Given the description of an element on the screen output the (x, y) to click on. 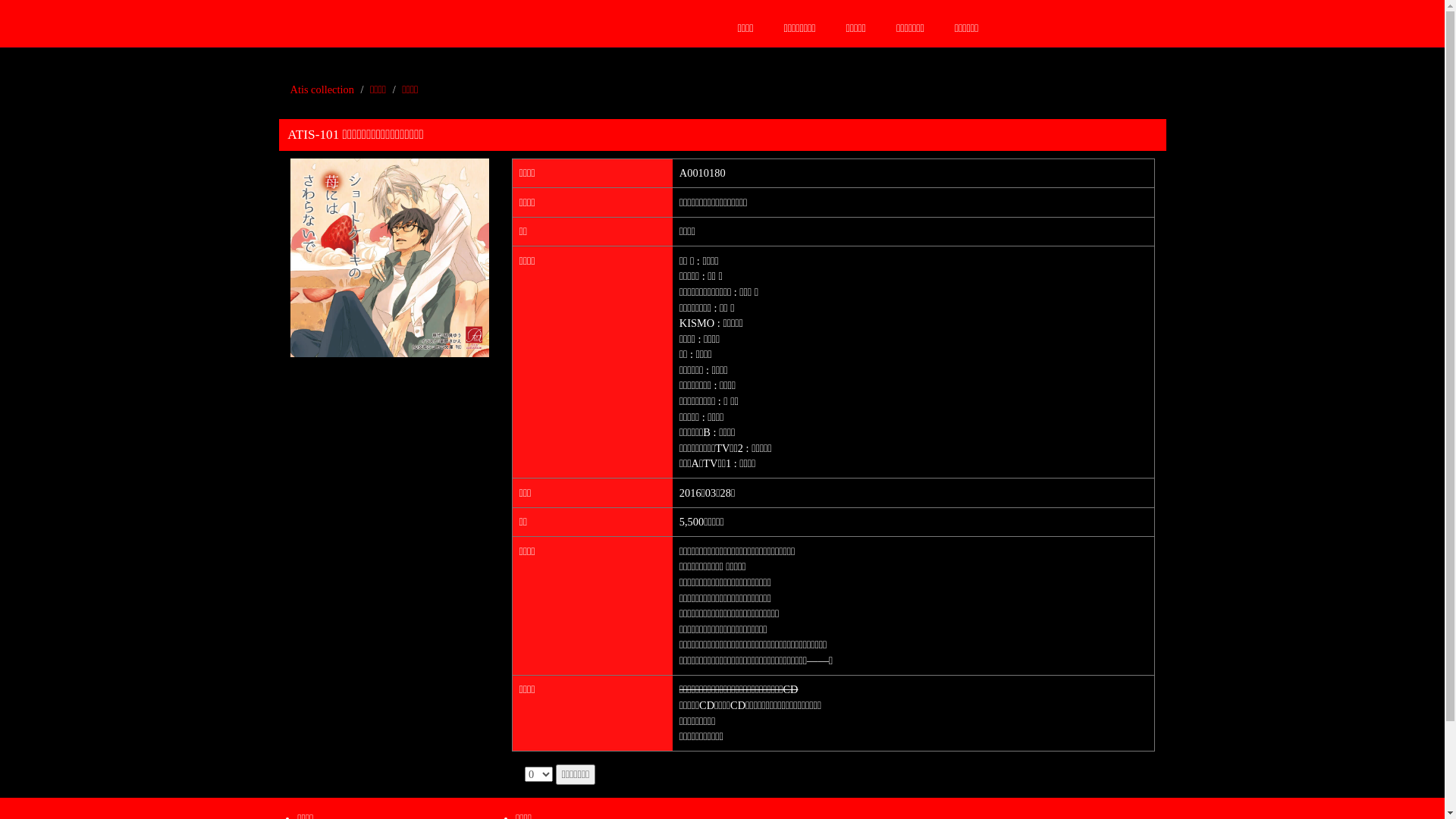
Atis collection Element type: text (321, 89)
